Given the description of an element on the screen output the (x, y) to click on. 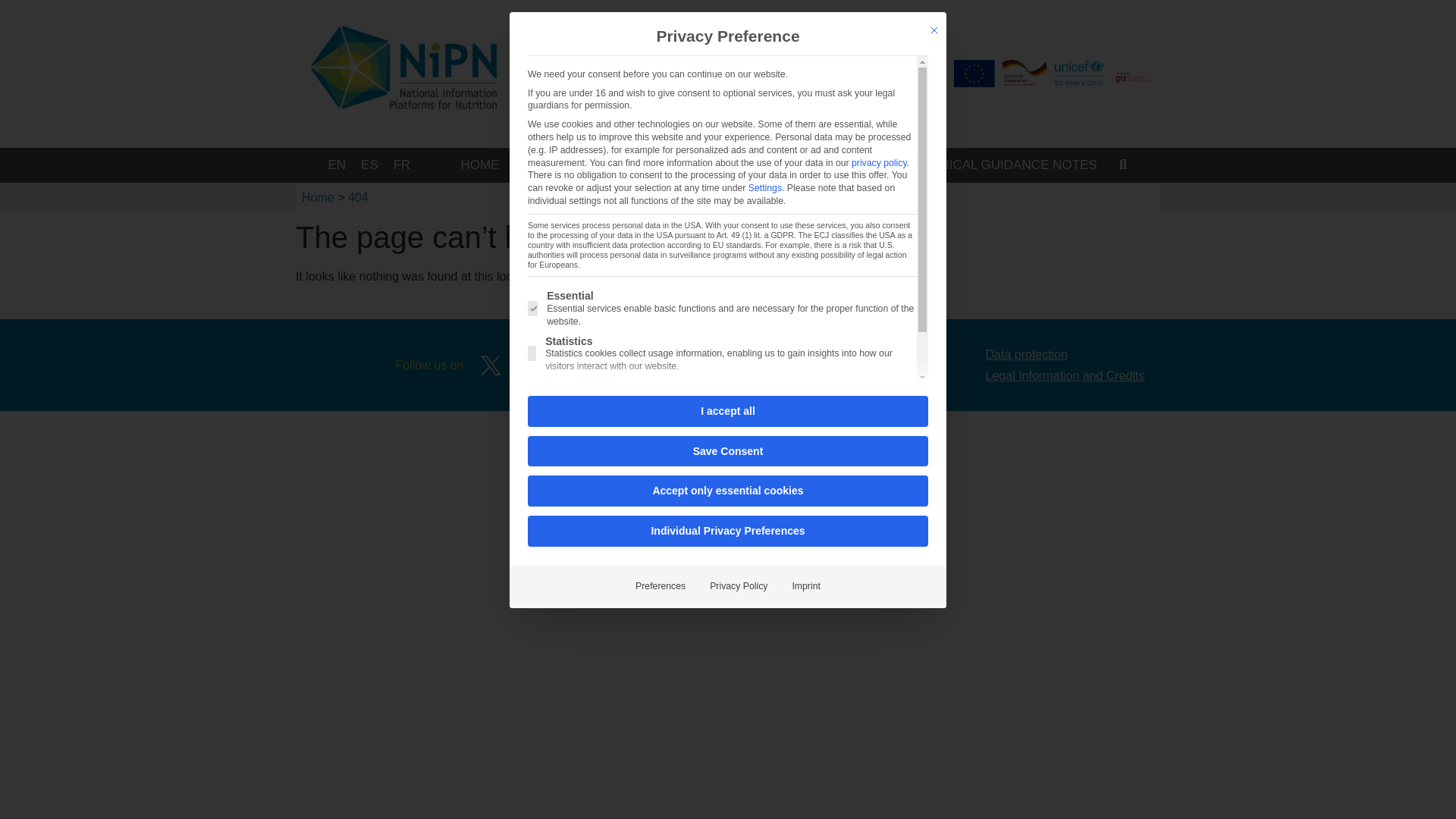
EN (336, 165)
COUNTRIES (629, 165)
EN (336, 165)
FR (402, 165)
Go to NIPN - National Information Platforms for Nutrition. (317, 196)
FR (402, 165)
ES (369, 165)
ACTIVITIES (726, 165)
Go to 404. (357, 196)
ABOUT (545, 165)
